Given the description of an element on the screen output the (x, y) to click on. 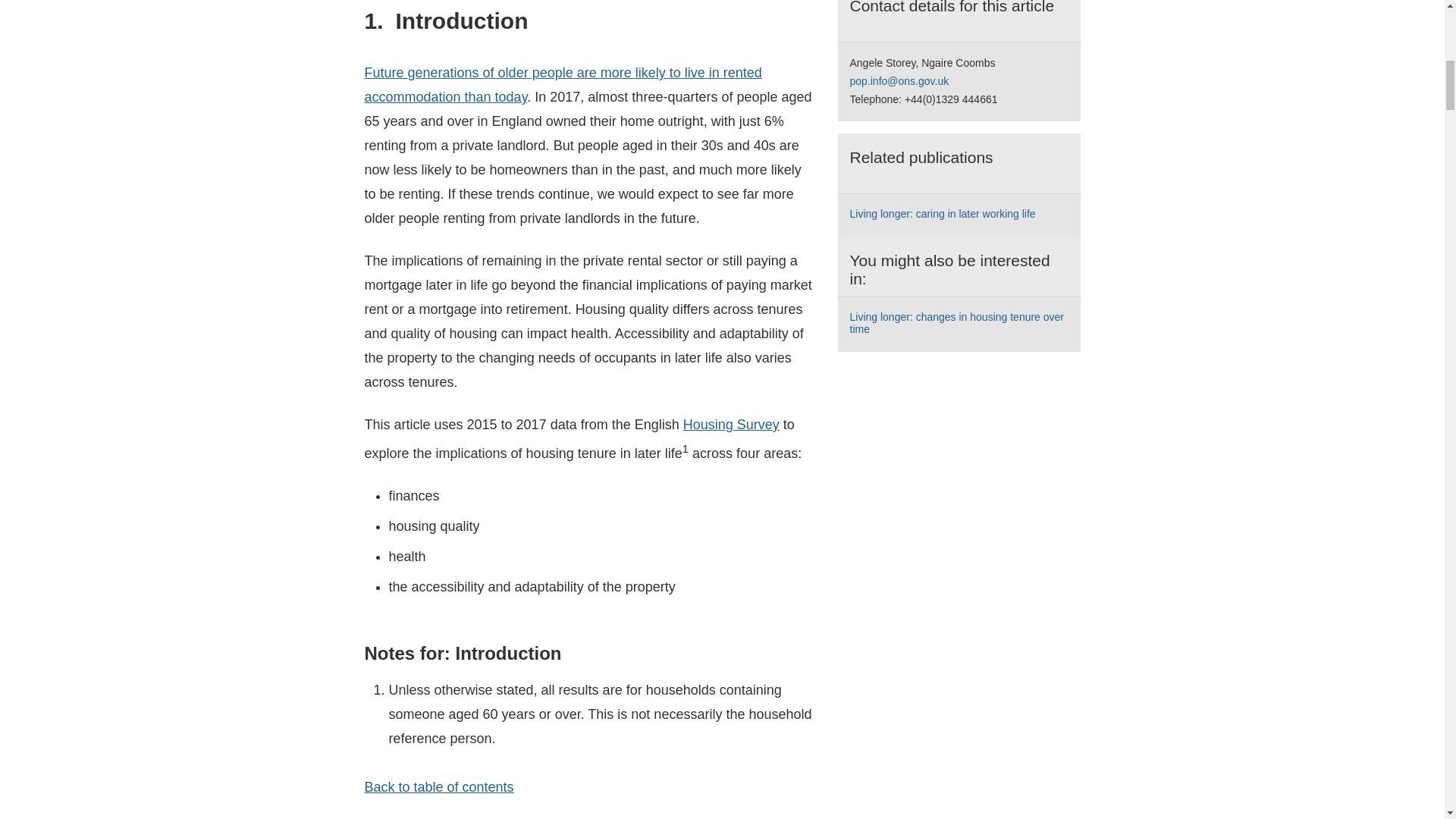
Back to table of contents (438, 786)
